Given the description of an element on the screen output the (x, y) to click on. 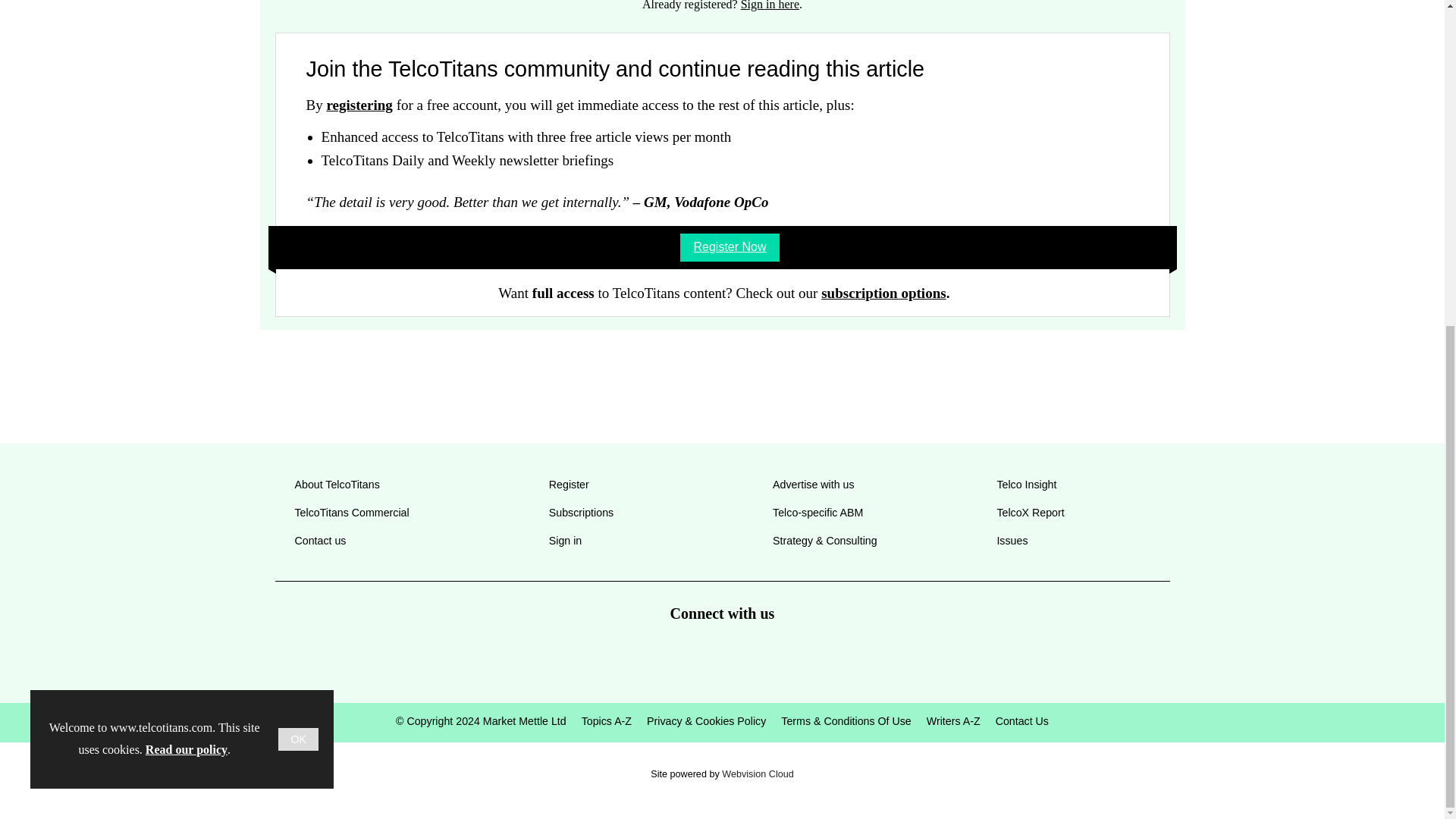
OK (298, 204)
Connect with us on Twitter (667, 656)
Read our policy (186, 214)
Email us (776, 656)
Connect with us on LinkedIn (721, 656)
